Given the description of an element on the screen output the (x, y) to click on. 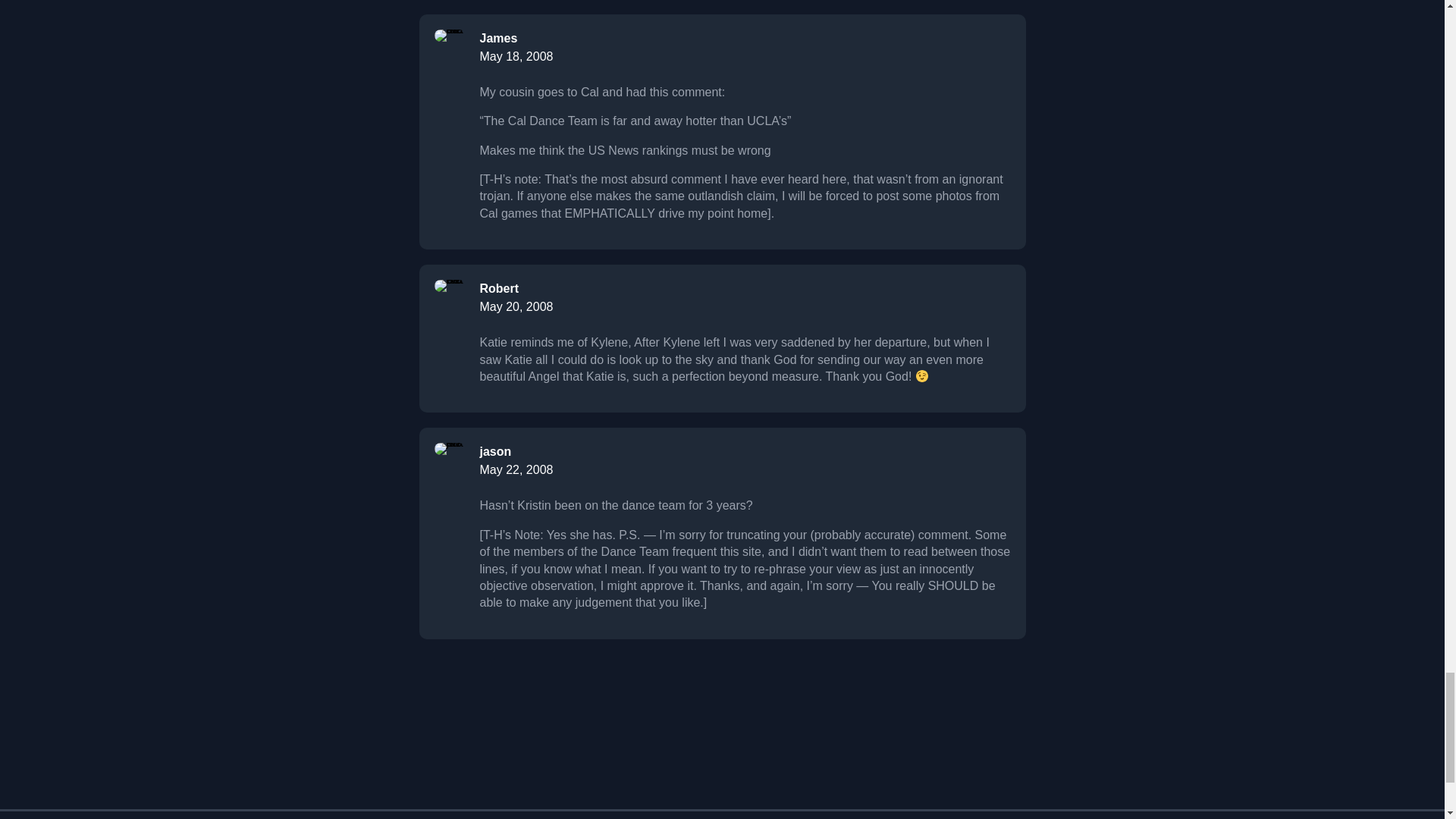
May 22, 2008 (516, 469)
May 20, 2008 (516, 306)
May 18, 2008 (516, 56)
